Given the description of an element on the screen output the (x, y) to click on. 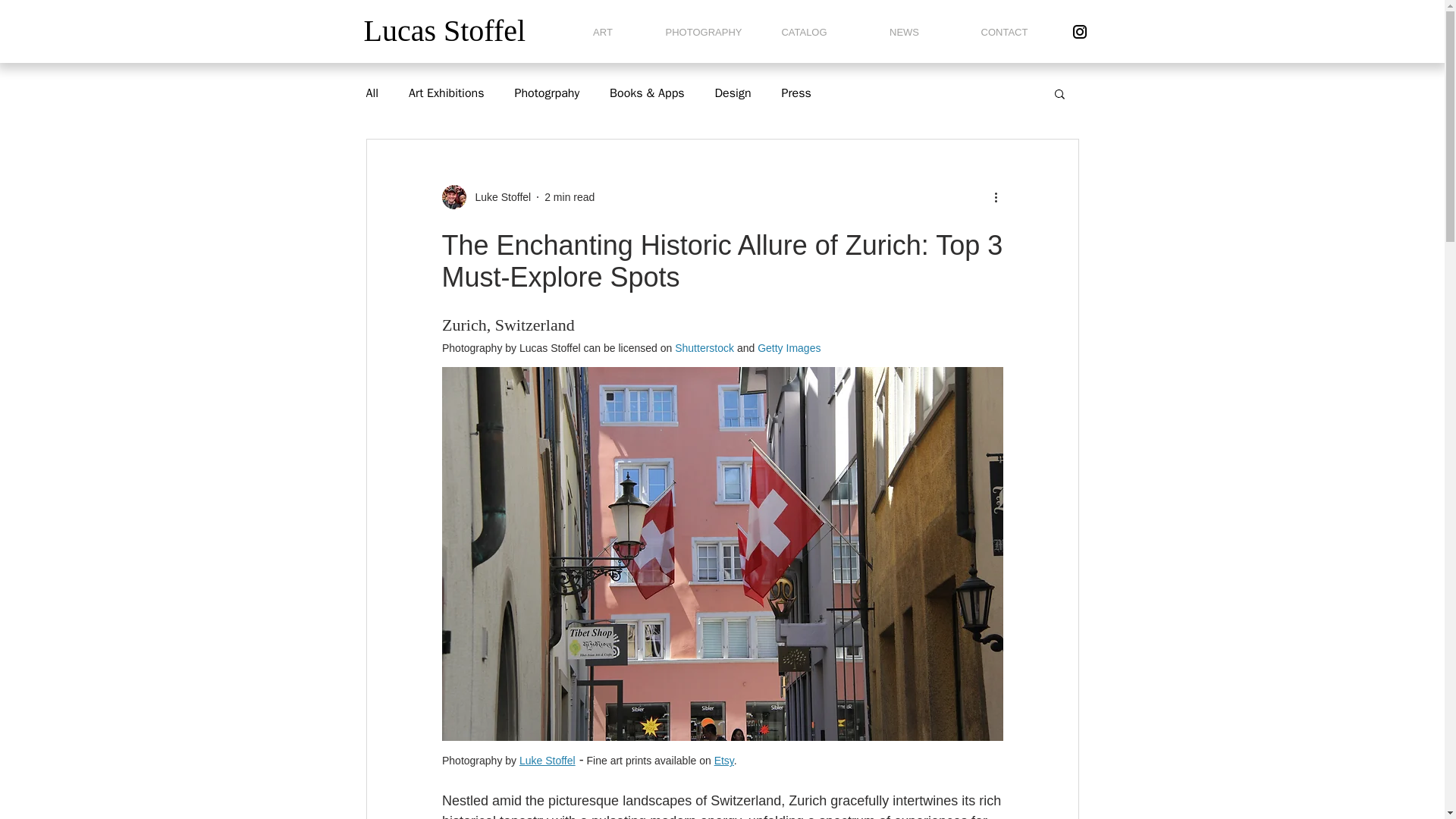
icons8-instagram-48.png (1079, 31)
Press (795, 92)
Luke Stoffel (546, 759)
Luke Stoffel (498, 197)
Design (732, 92)
PHOTOGRAPHY (702, 31)
Shutterstock (704, 346)
Photogrpahy (546, 92)
All (371, 92)
Lucas Stoffel (444, 30)
CATALOG (804, 31)
2 min read (569, 196)
ART (602, 31)
NEWS (904, 31)
Etsy (723, 759)
